Given the description of an element on the screen output the (x, y) to click on. 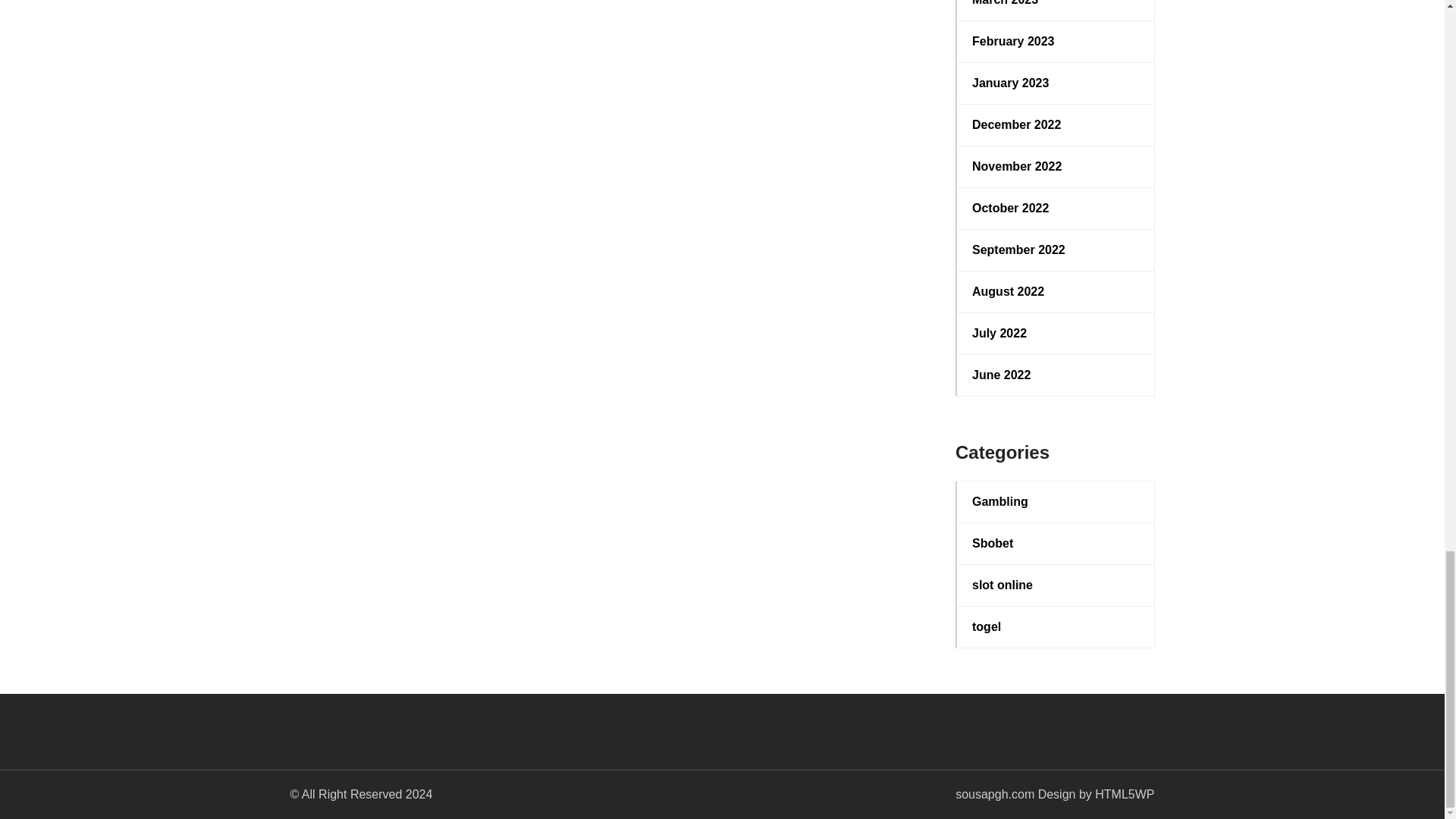
January 2023 (1055, 83)
December 2022 (1055, 125)
March 2023 (1055, 4)
February 2023 (1055, 41)
November 2022 (1055, 167)
October 2022 (1055, 208)
September 2022 (1055, 249)
